Given the description of an element on the screen output the (x, y) to click on. 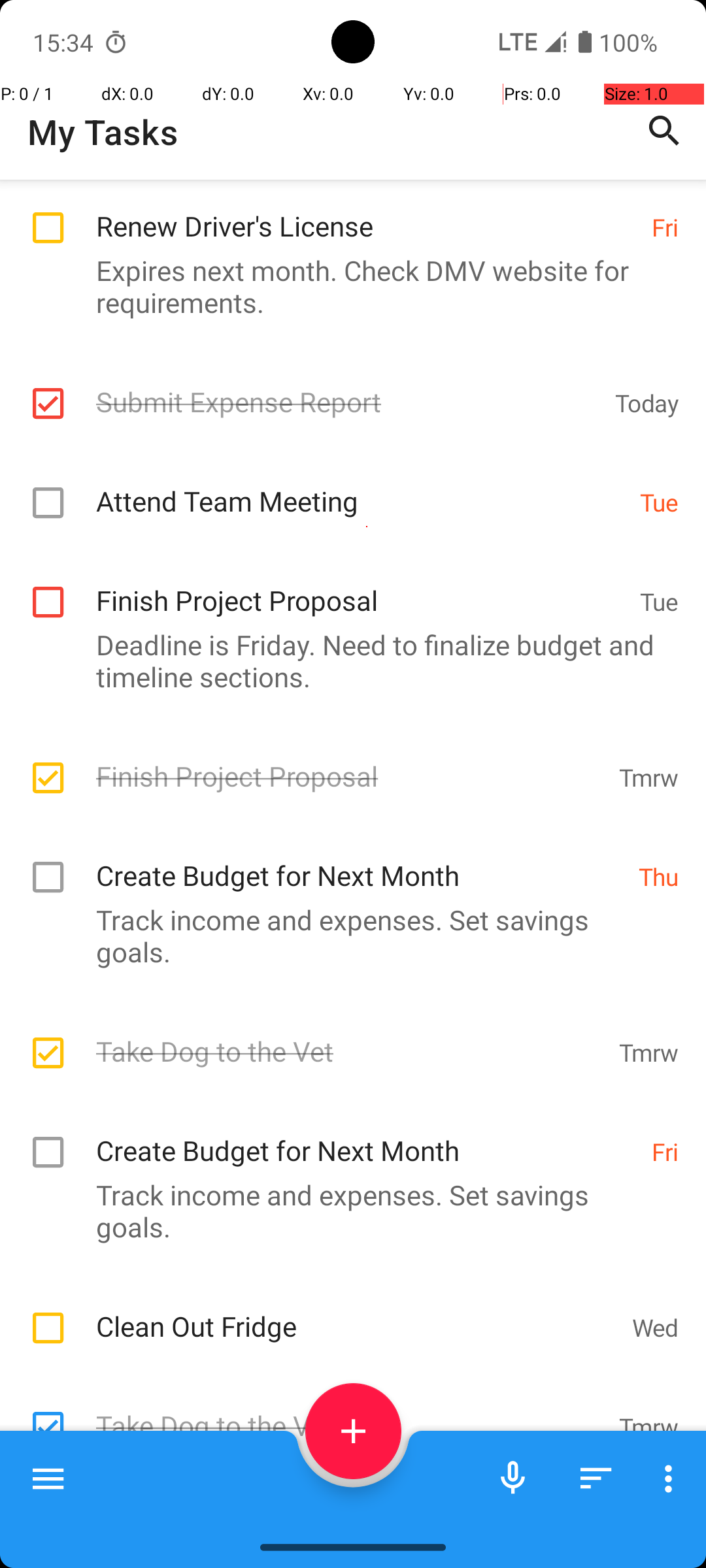
Expires next month. Check DMV website for requirements. Element type: android.widget.TextView (346, 285)
Deadline is Friday. Need to finalize budget and timeline sections. Element type: android.widget.TextView (346, 660)
